Given the description of an element on the screen output the (x, y) to click on. 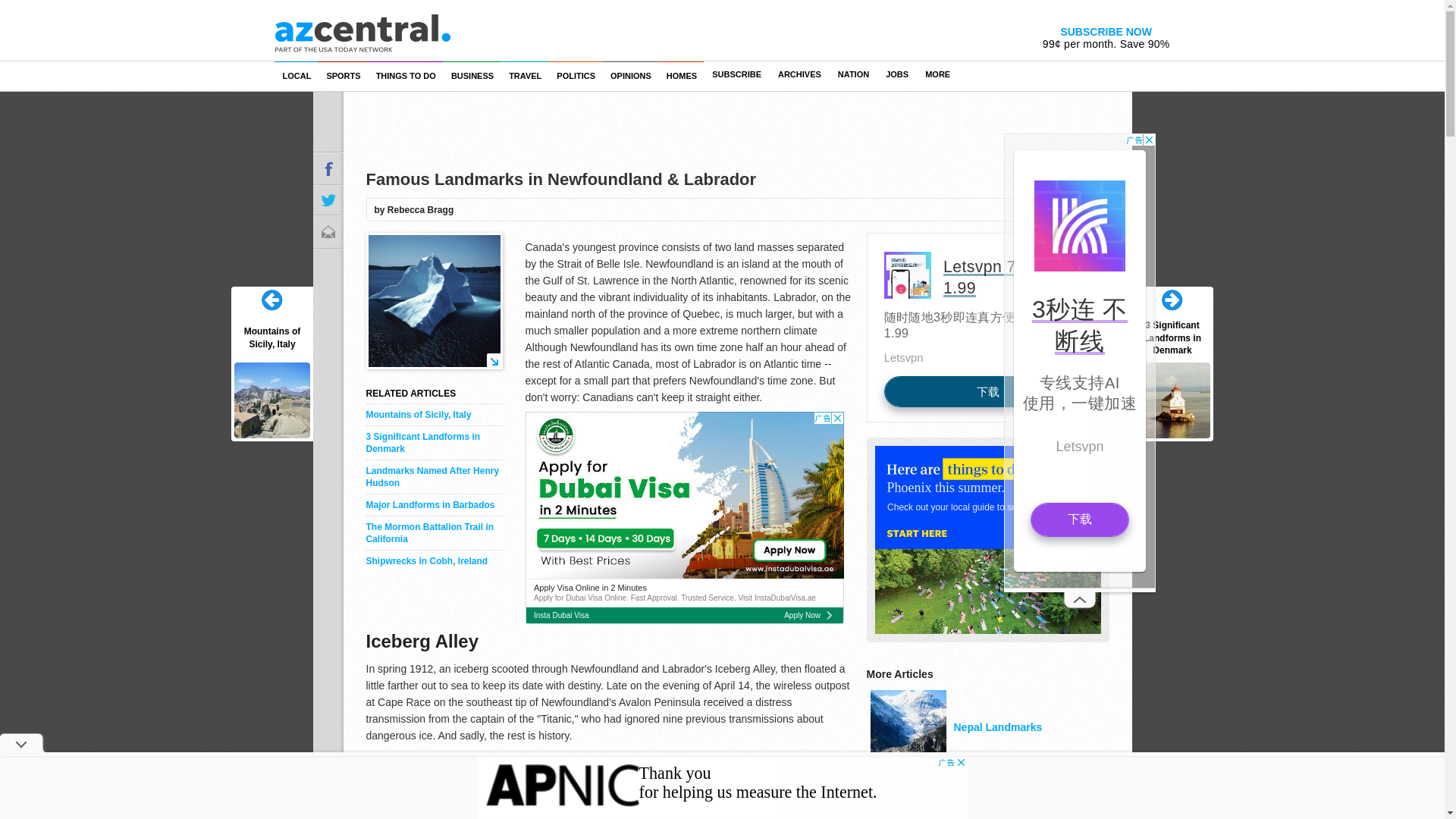
Advertisement (683, 517)
Advertisement (722, 787)
SPORTS (342, 75)
JOBS (897, 73)
POLITICS (575, 75)
TRAVEL (524, 75)
BUSINESS (471, 75)
Advertisement (987, 327)
OPINIONS (630, 75)
THINGS TO DO (406, 75)
ARCHIVES (799, 73)
HOMES (680, 75)
SUBSCRIBE (736, 73)
MORE (937, 73)
LOCAL (296, 75)
